Given the description of an element on the screen output the (x, y) to click on. 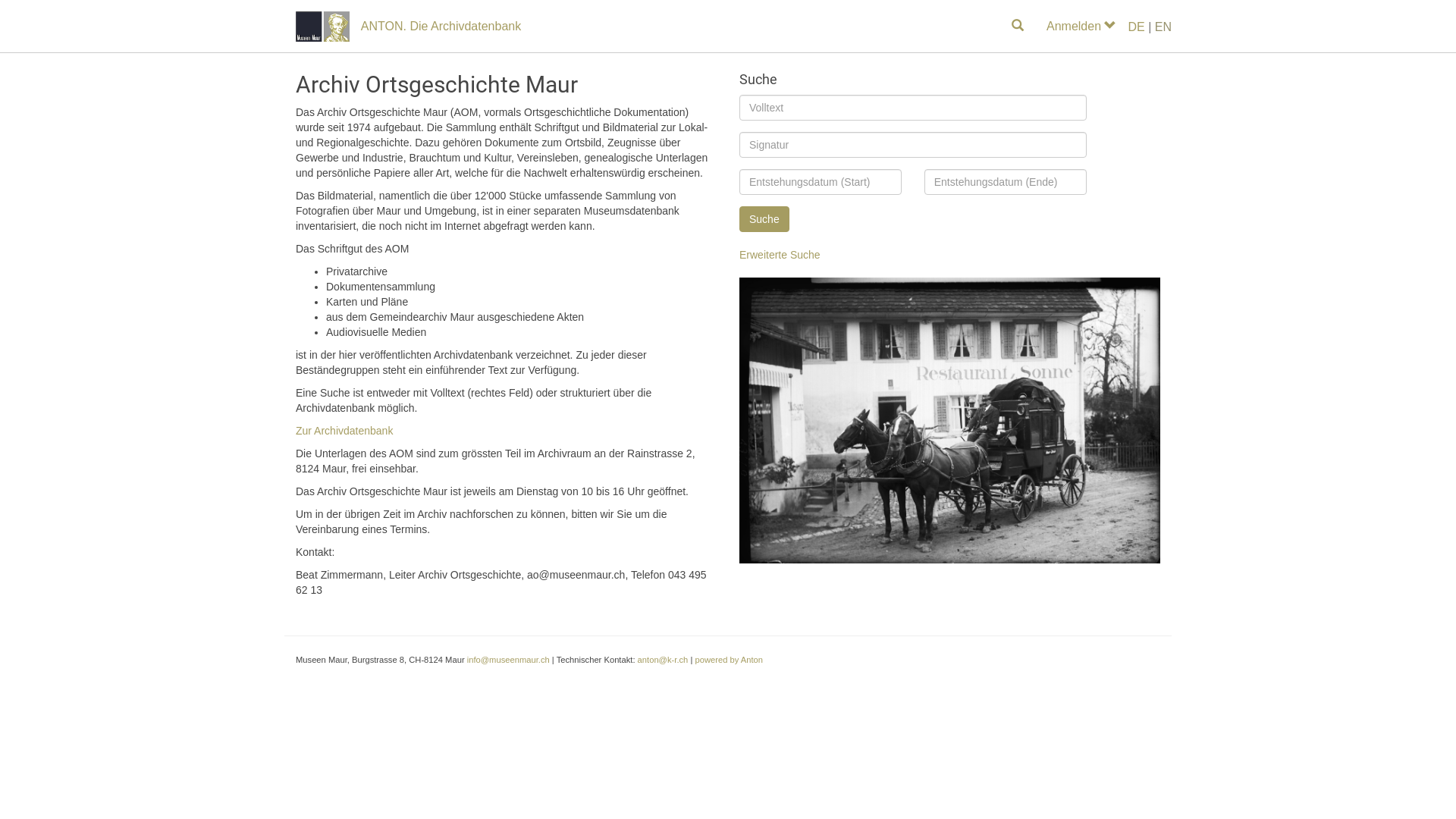
Zur Archivdatenbank Element type: text (343, 430)
ANTON. Die Archivdatenbank Element type: text (440, 26)
info@museenmaur.ch Element type: text (508, 659)
anton@k-r.ch Element type: text (662, 659)
EN Element type: text (1162, 26)
powered by Anton Element type: text (728, 659)
Erweiterte Suche Element type: text (779, 254)
Anmelden Element type: text (1081, 26)
Suche Element type: text (764, 219)
DE Element type: text (1135, 26)
